Given the description of an element on the screen output the (x, y) to click on. 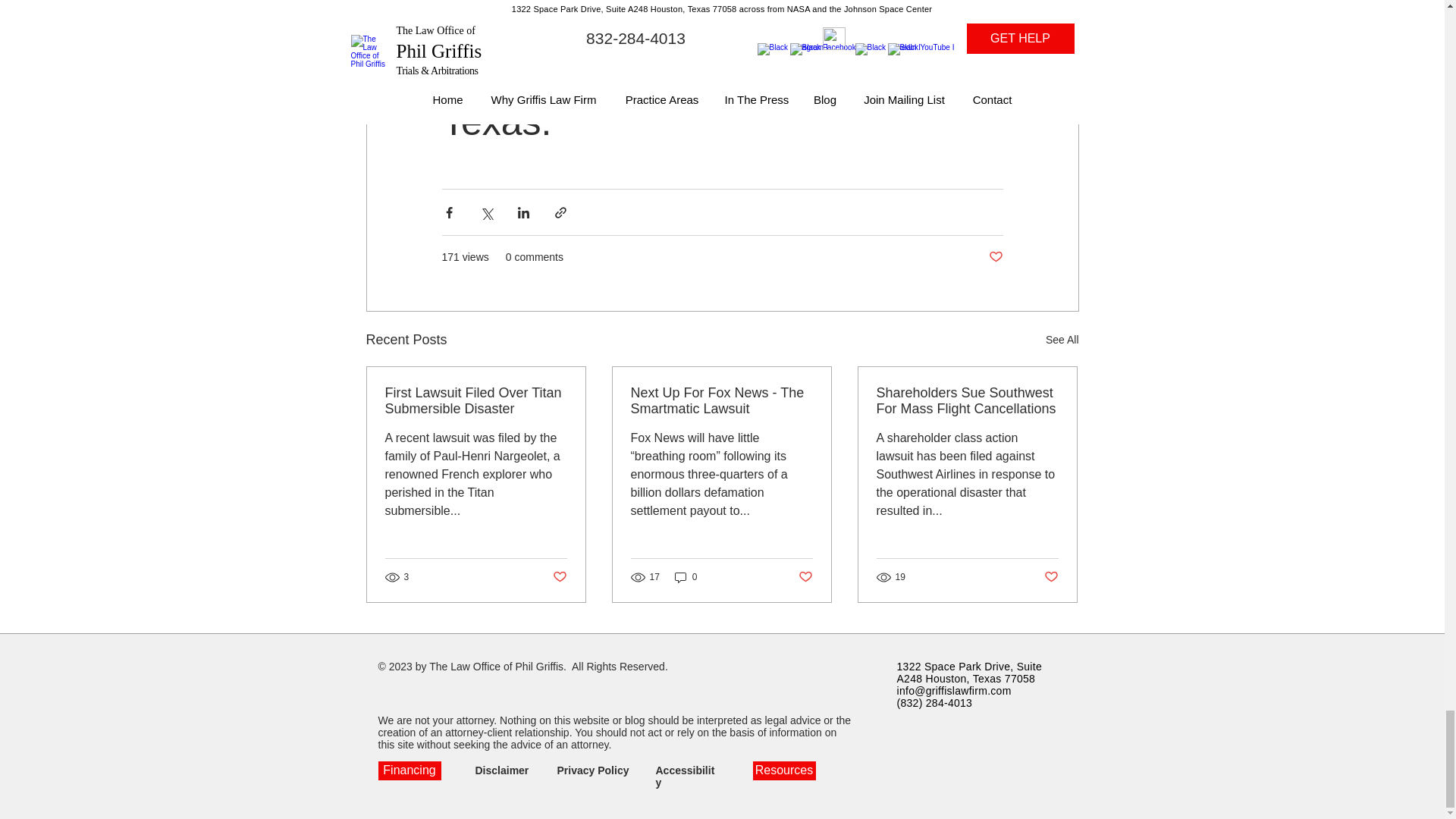
See All (1061, 340)
Post not marked as liked (995, 257)
First Lawsuit Filed Over Titan Submersible Disaster (476, 400)
